Given the description of an element on the screen output the (x, y) to click on. 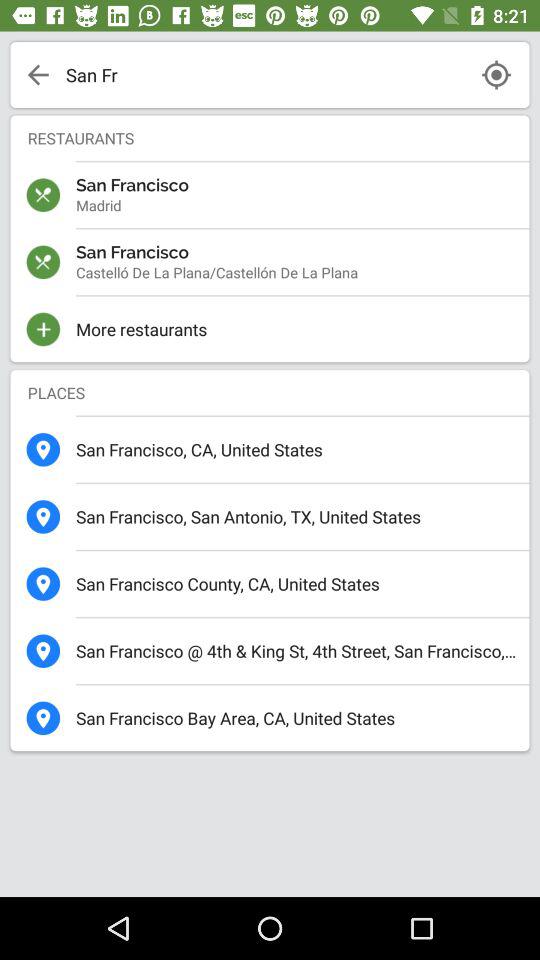
location button (496, 74)
